Given the description of an element on the screen output the (x, y) to click on. 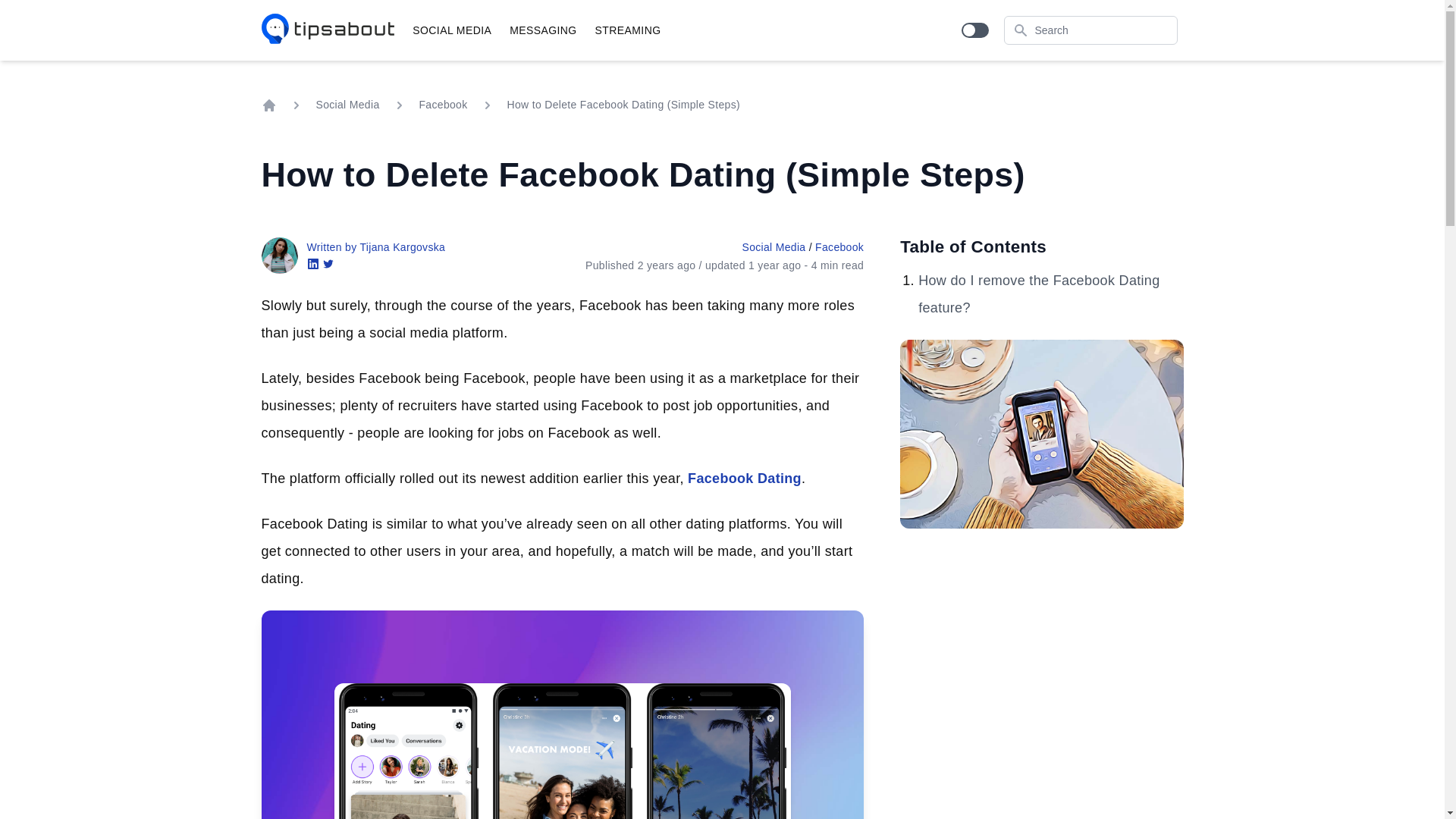
Tijana Kargovska (278, 255)
How do I remove the Facebook Dating feature? (1038, 293)
Home (268, 104)
STREAMING (627, 30)
SOCIAL MEDIA (451, 30)
MESSAGING (542, 30)
Toggle darkmode (974, 29)
Facebook (443, 105)
Messaging (542, 30)
Social Media (346, 105)
Social Media (773, 246)
Twitter (327, 265)
Facebook (839, 246)
Home (327, 30)
Written by Tijana Kargovska (375, 246)
